Given the description of an element on the screen output the (x, y) to click on. 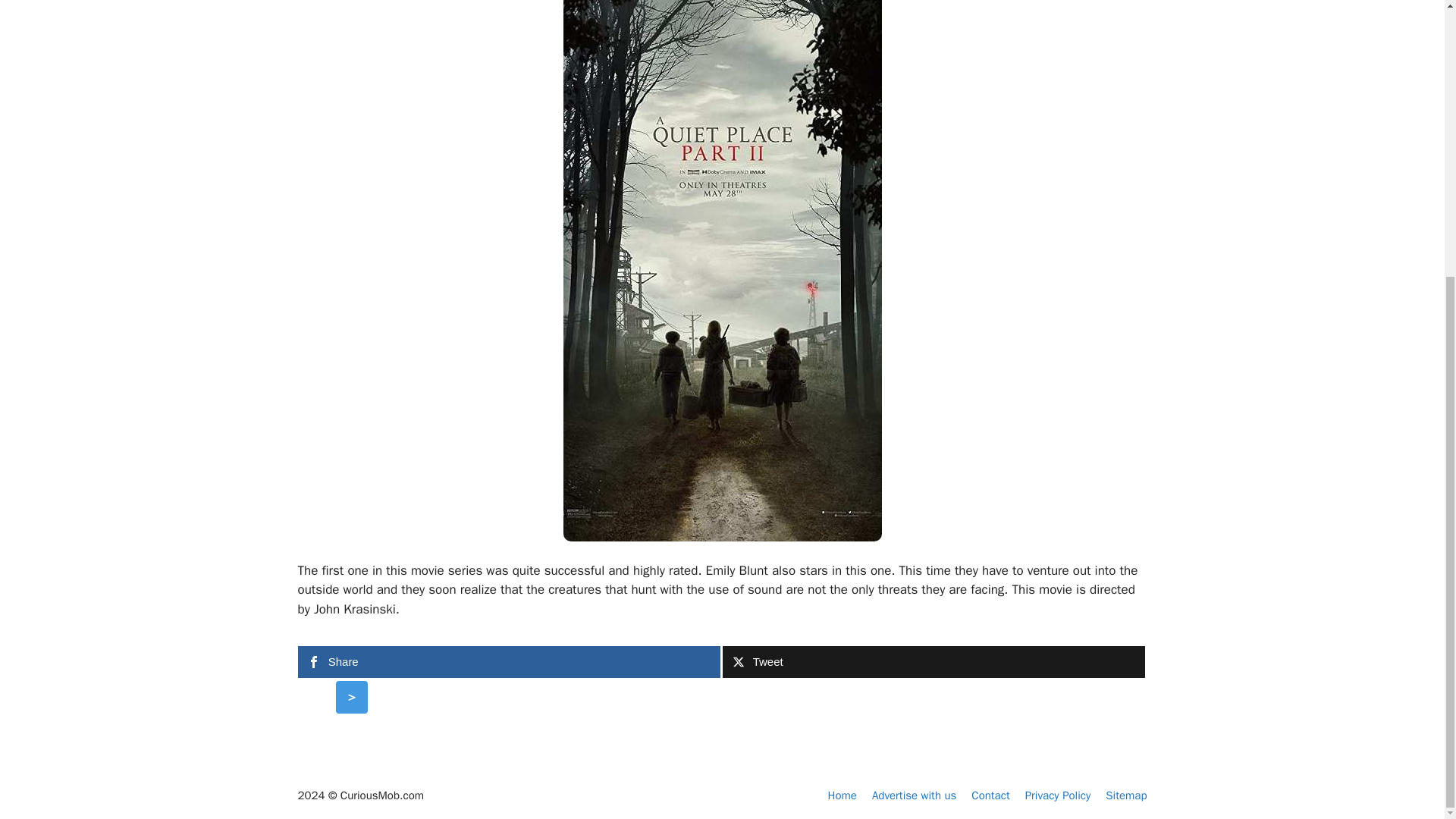
Sitemap (1126, 795)
Share (508, 662)
Advertise with us (914, 795)
Contact (990, 795)
Privacy Policy (1057, 795)
Home (842, 795)
Tweet (933, 662)
